Given the description of an element on the screen output the (x, y) to click on. 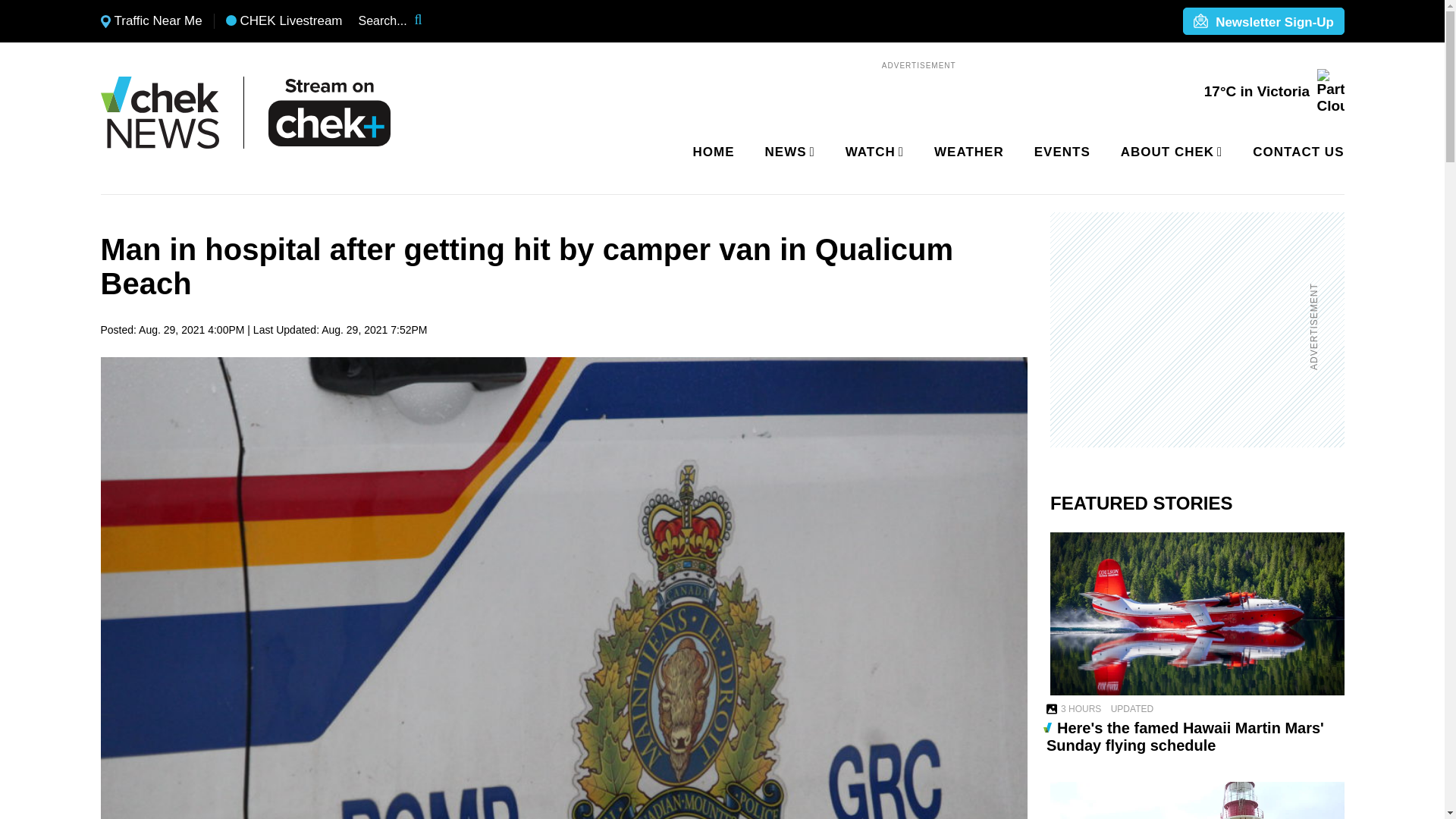
HOME (714, 152)
NEWS (787, 152)
Traffic Near Me (151, 20)
Search (428, 21)
CHEK Livestream (283, 20)
Newsletter Sign-Up (1262, 22)
